Given the description of an element on the screen output the (x, y) to click on. 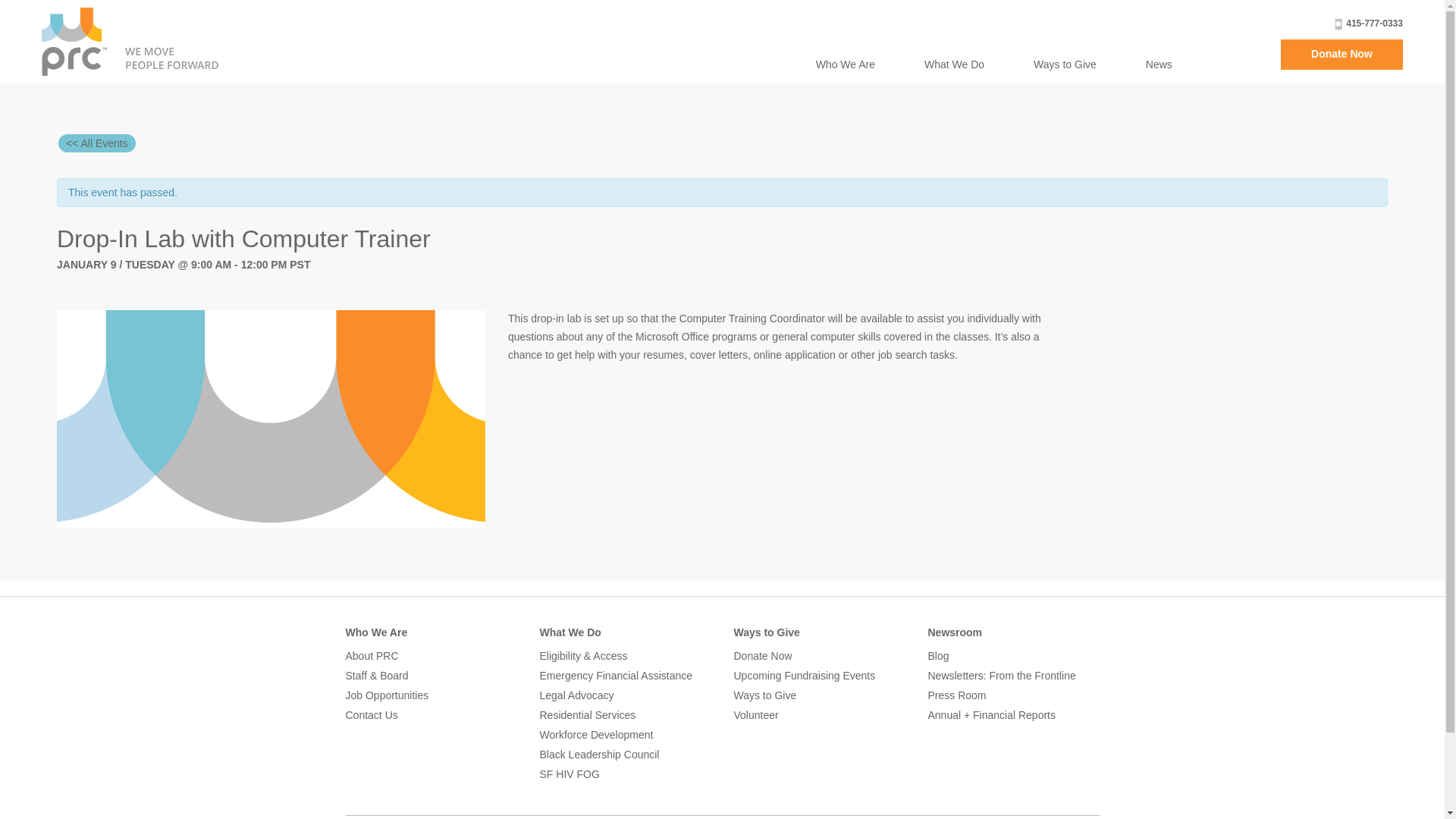
Who We Are (844, 64)
Ways to Give (1064, 64)
What We Do (953, 64)
